Given the description of an element on the screen output the (x, y) to click on. 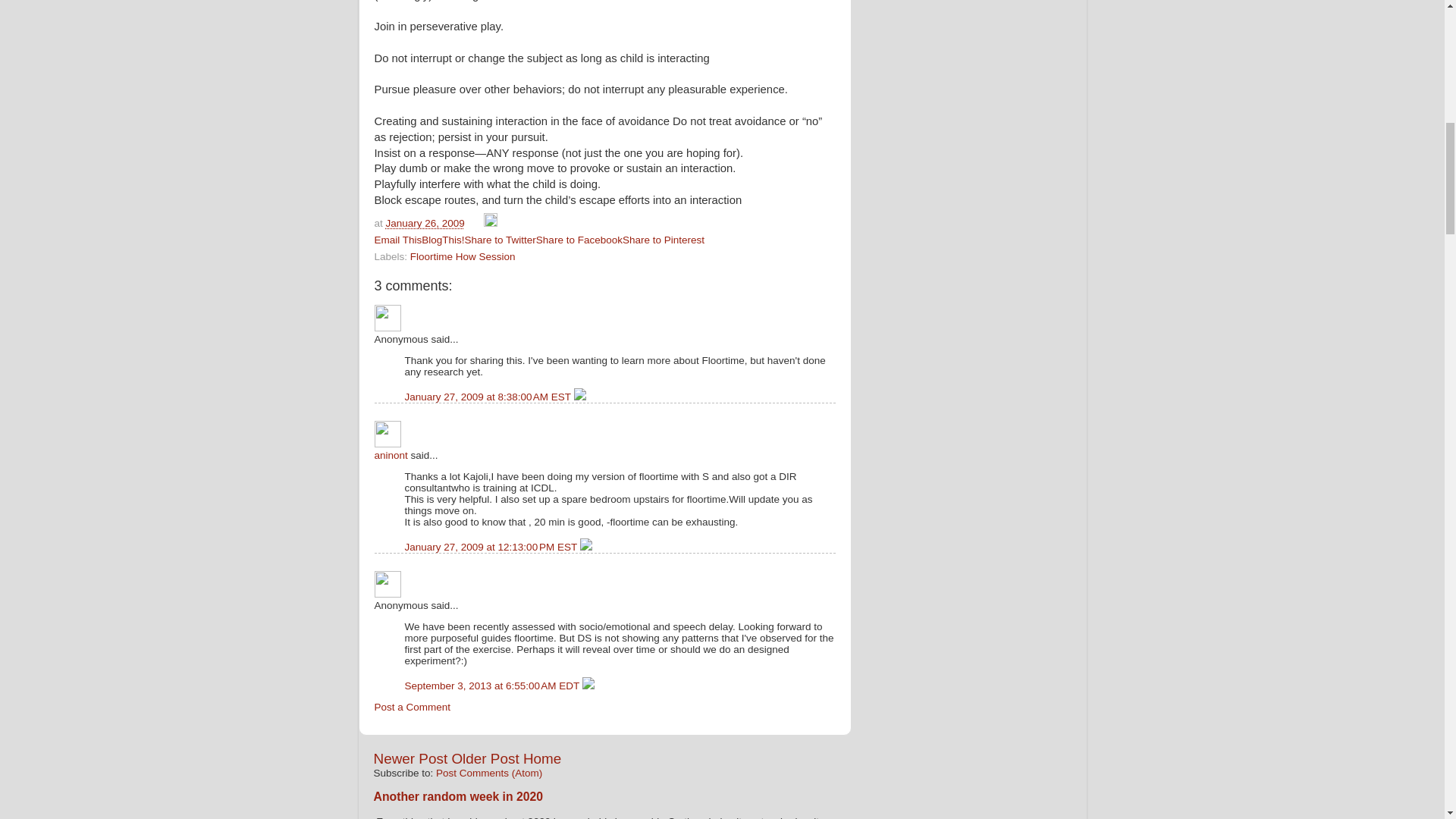
Delete Comment (579, 396)
aninont (390, 455)
Anonymous (387, 583)
Another random week in 2020 (457, 796)
Share to Pinterest (663, 239)
Newer Post (409, 758)
BlogThis! (443, 239)
Floortime How Session (462, 256)
comment permalink (491, 546)
Older Post (484, 758)
Delete Comment (585, 546)
Post a Comment (412, 706)
